Given the description of an element on the screen output the (x, y) to click on. 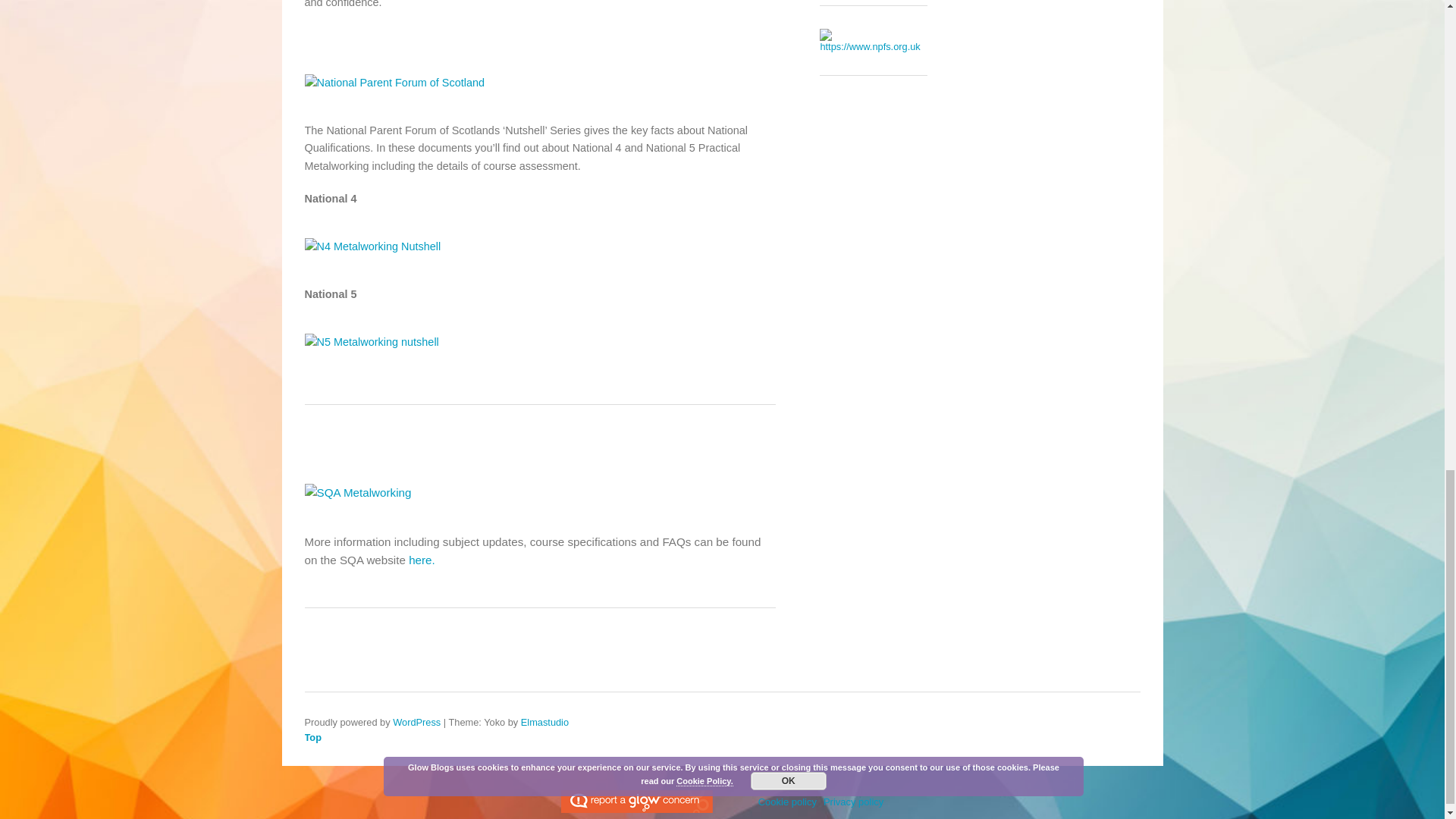
here. (422, 559)
Elmastudio (545, 722)
Cookie policy (787, 801)
WordPress (417, 722)
Top (596, 737)
Privacy policy (853, 801)
